Given the description of an element on the screen output the (x, y) to click on. 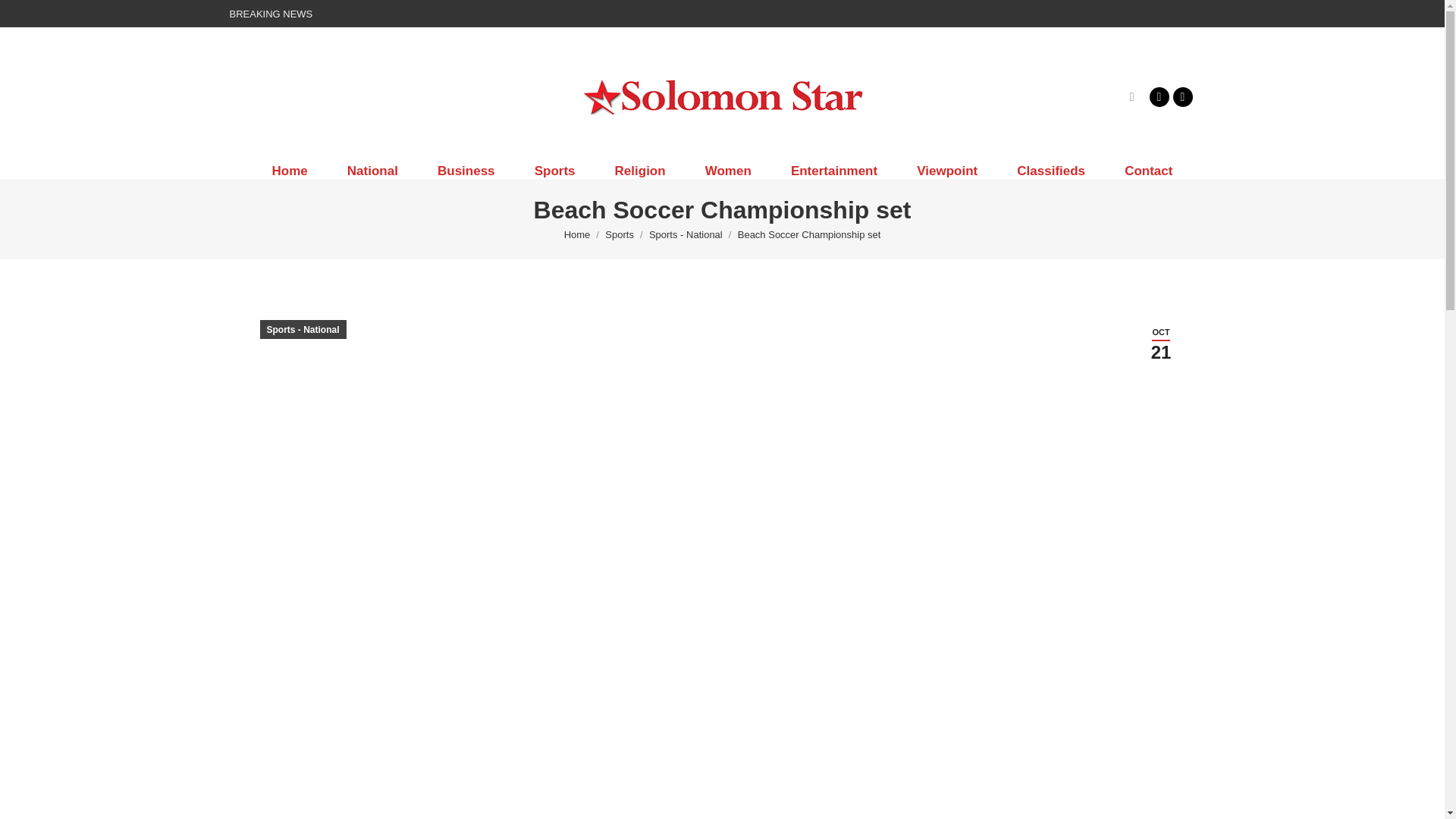
Classifieds (1051, 170)
Business (466, 170)
Sports (555, 170)
Facebook page opens in new window (1159, 96)
Viewpoint (946, 170)
Go! (24, 17)
Sports - National (685, 234)
1:27 pm (1161, 343)
X page opens in new window (1182, 96)
Religion (640, 170)
National (372, 170)
Facebook page opens in new window (1159, 96)
Women (728, 170)
Sports (619, 234)
Contact (1148, 170)
